Given the description of an element on the screen output the (x, y) to click on. 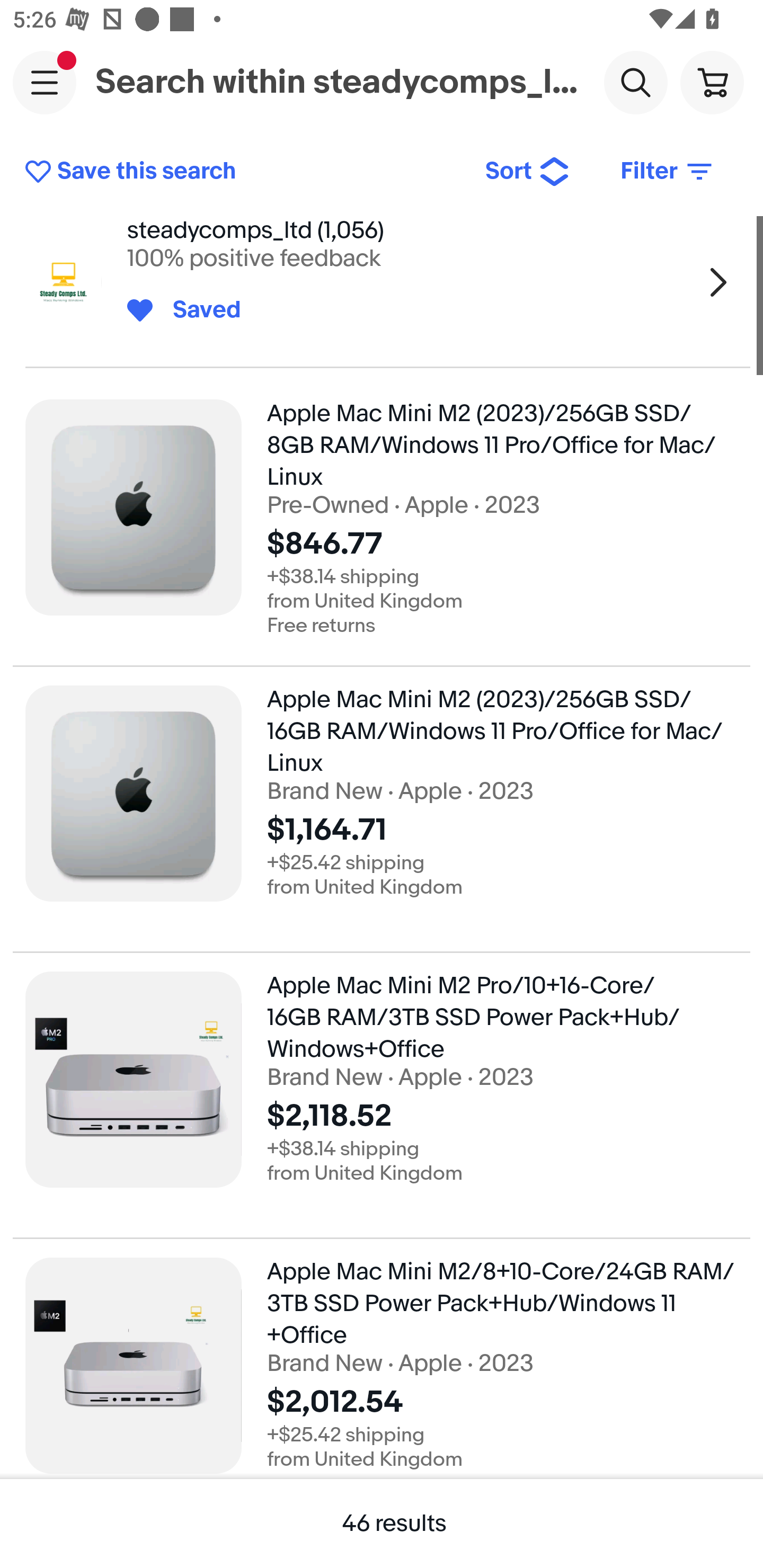
Main navigation, notification is pending, open (44, 82)
Search (635, 81)
Cart button shopping cart (711, 81)
Save this search (241, 171)
Sort (527, 171)
Filter (667, 171)
Saved (197, 310)
